Given the description of an element on the screen output the (x, y) to click on. 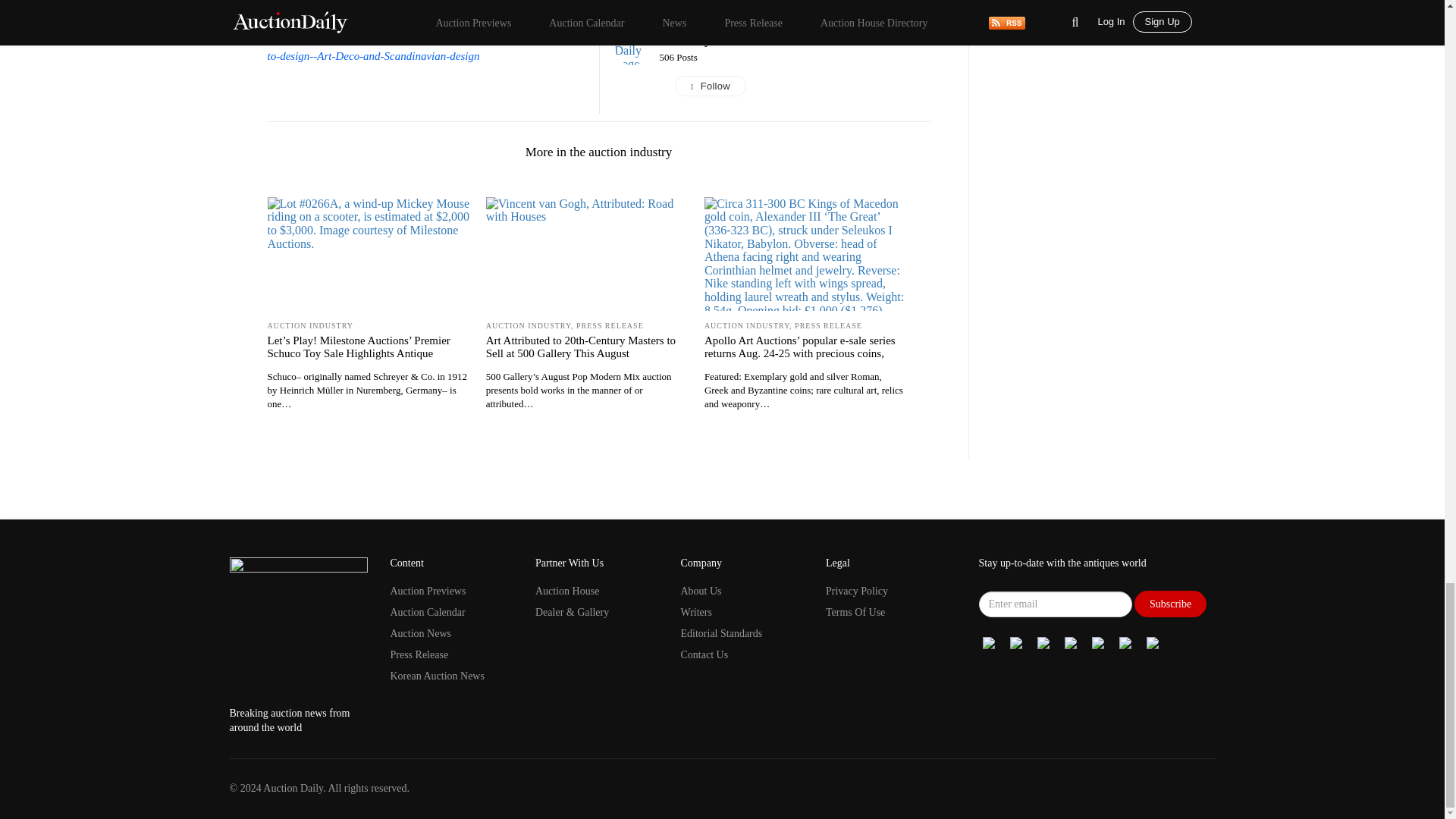
Subscribe (1170, 603)
Pinterest (1125, 641)
Instagram (1070, 641)
Thread (1097, 641)
Google News (988, 641)
Art Daily (685, 38)
Feedly (1152, 641)
View Media Source (685, 38)
Follow (795, 86)
